Given the description of an element on the screen output the (x, y) to click on. 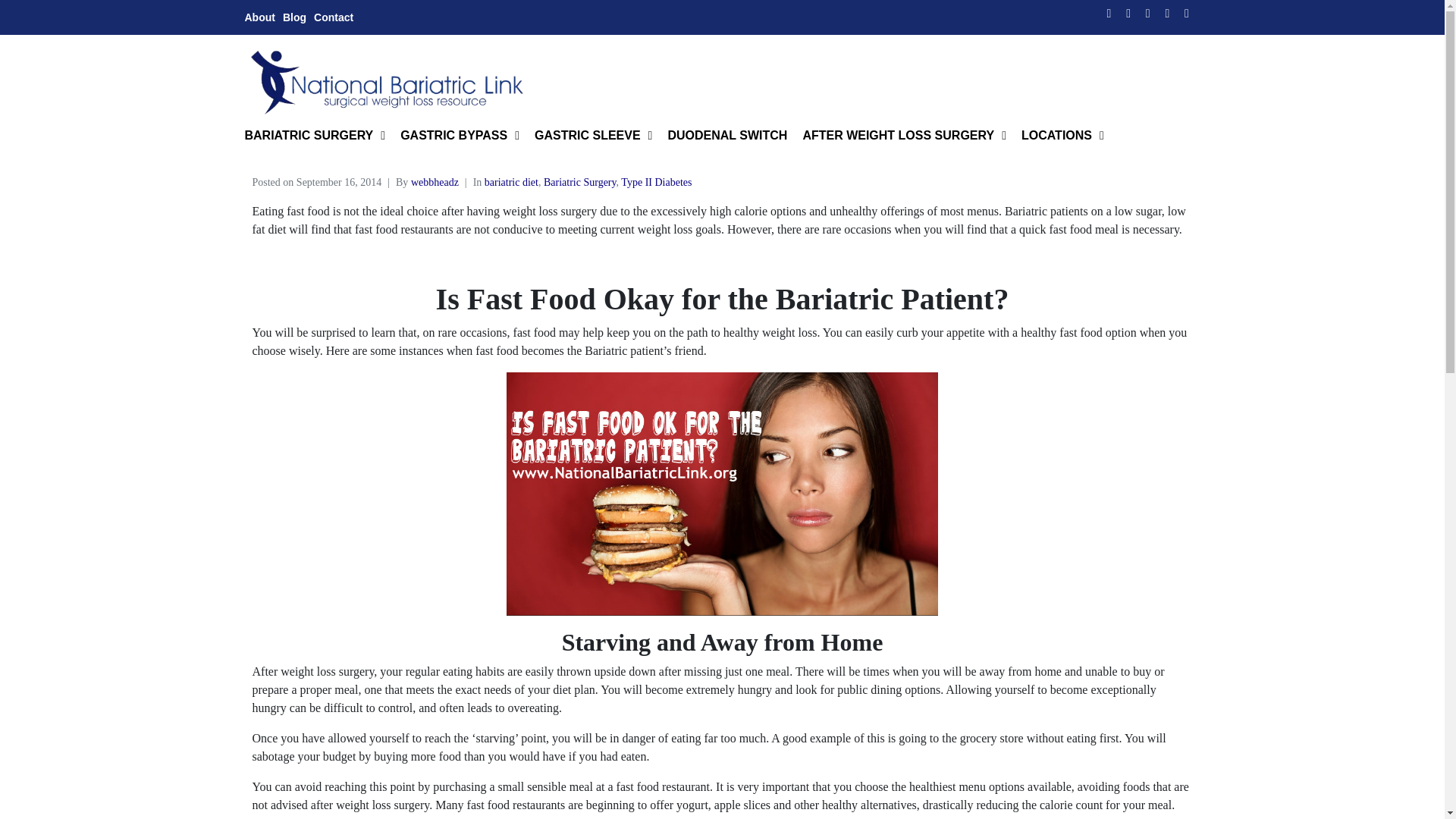
Contact (333, 17)
Blog (293, 17)
About (259, 17)
BARIATRIC SURGERY (314, 135)
